Given the description of an element on the screen output the (x, y) to click on. 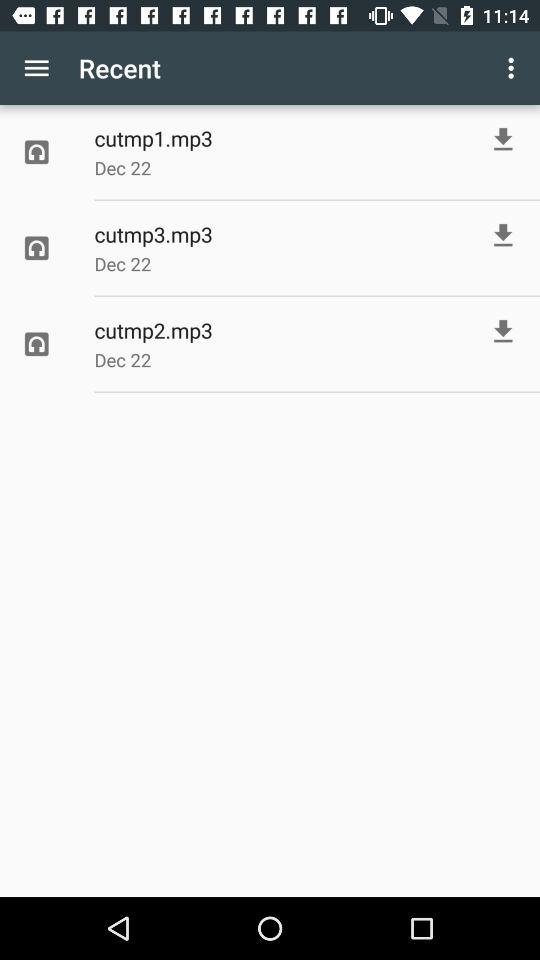
turn off the app next to recent icon (36, 68)
